Given the description of an element on the screen output the (x, y) to click on. 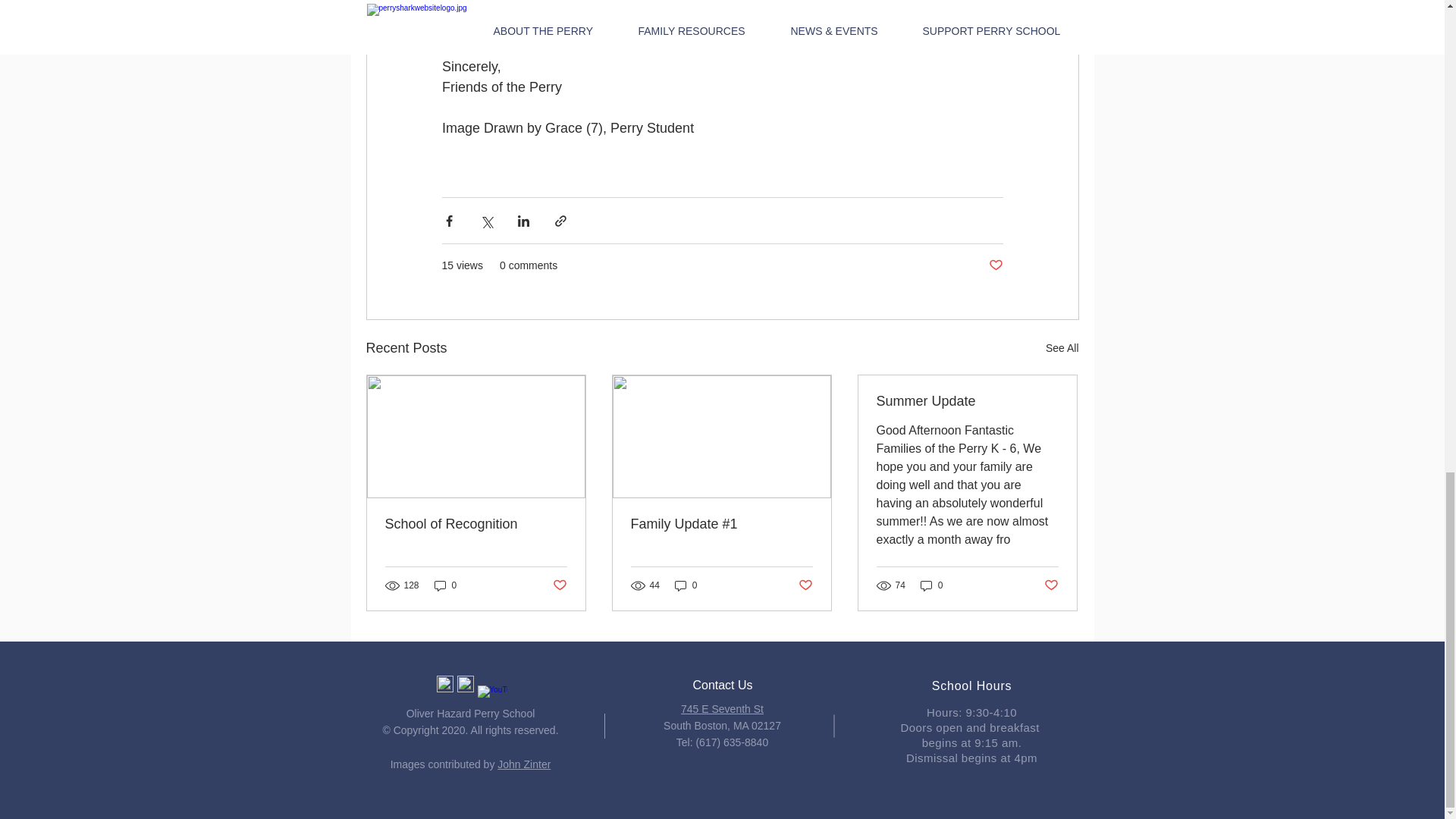
0 (685, 585)
Post not marked as liked (804, 585)
0 (445, 585)
Post not marked as liked (558, 585)
Post not marked as liked (995, 265)
School of Recognition (476, 524)
0 (931, 585)
See All (1061, 348)
Summer Update (967, 401)
John Zinter (523, 764)
Post not marked as liked (1050, 585)
745 E Seventh St (721, 708)
